Given the description of an element on the screen output the (x, y) to click on. 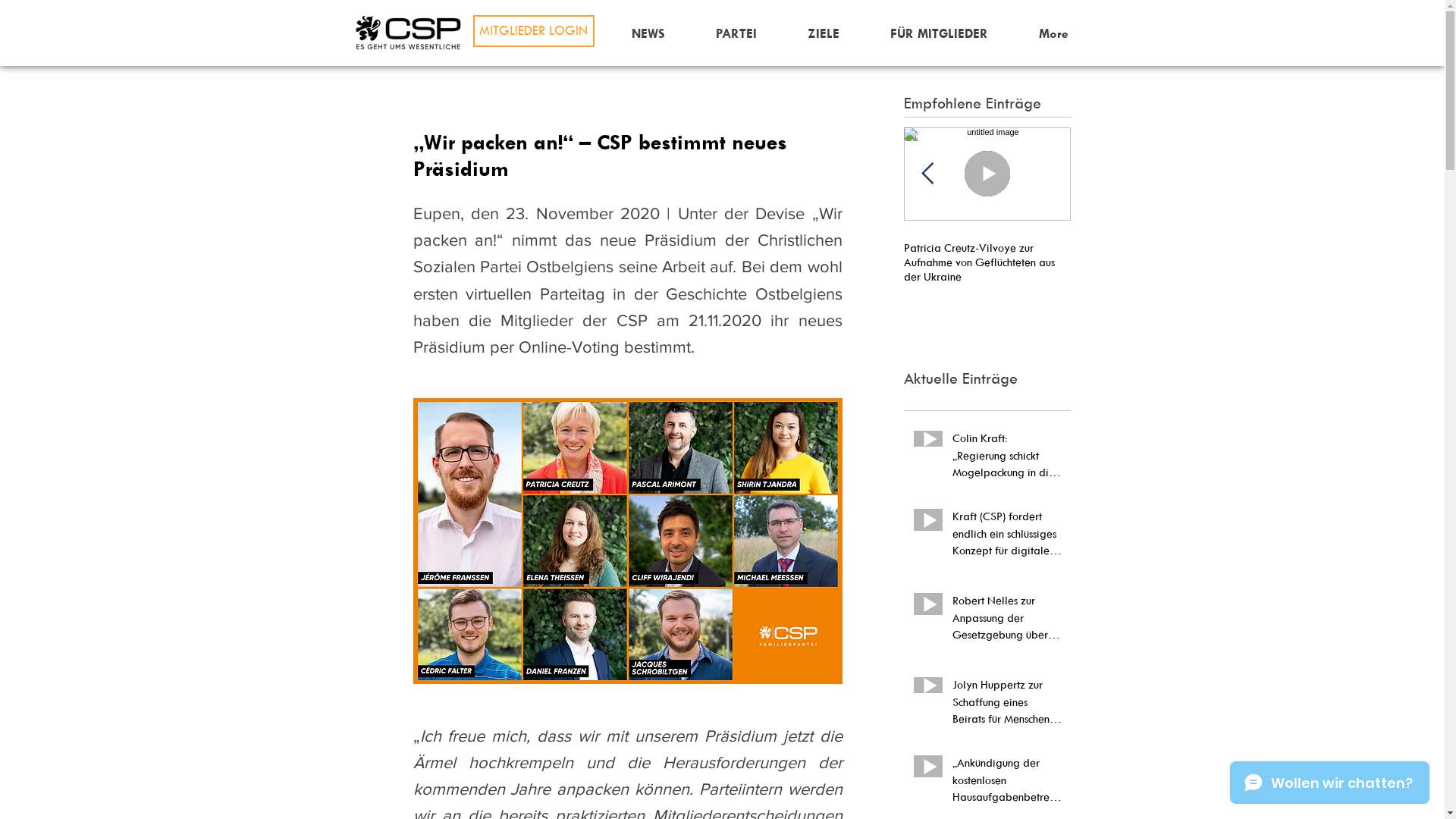
NEWS Element type: text (648, 33)
MITGLIEDER LOGIN Element type: text (533, 31)
Endometriose: Jede zehnte Frau in Belgien betroffen Element type: text (152, 254)
PARTEI Element type: text (735, 33)
ZIELE Element type: text (823, 33)
